Given the description of an element on the screen output the (x, y) to click on. 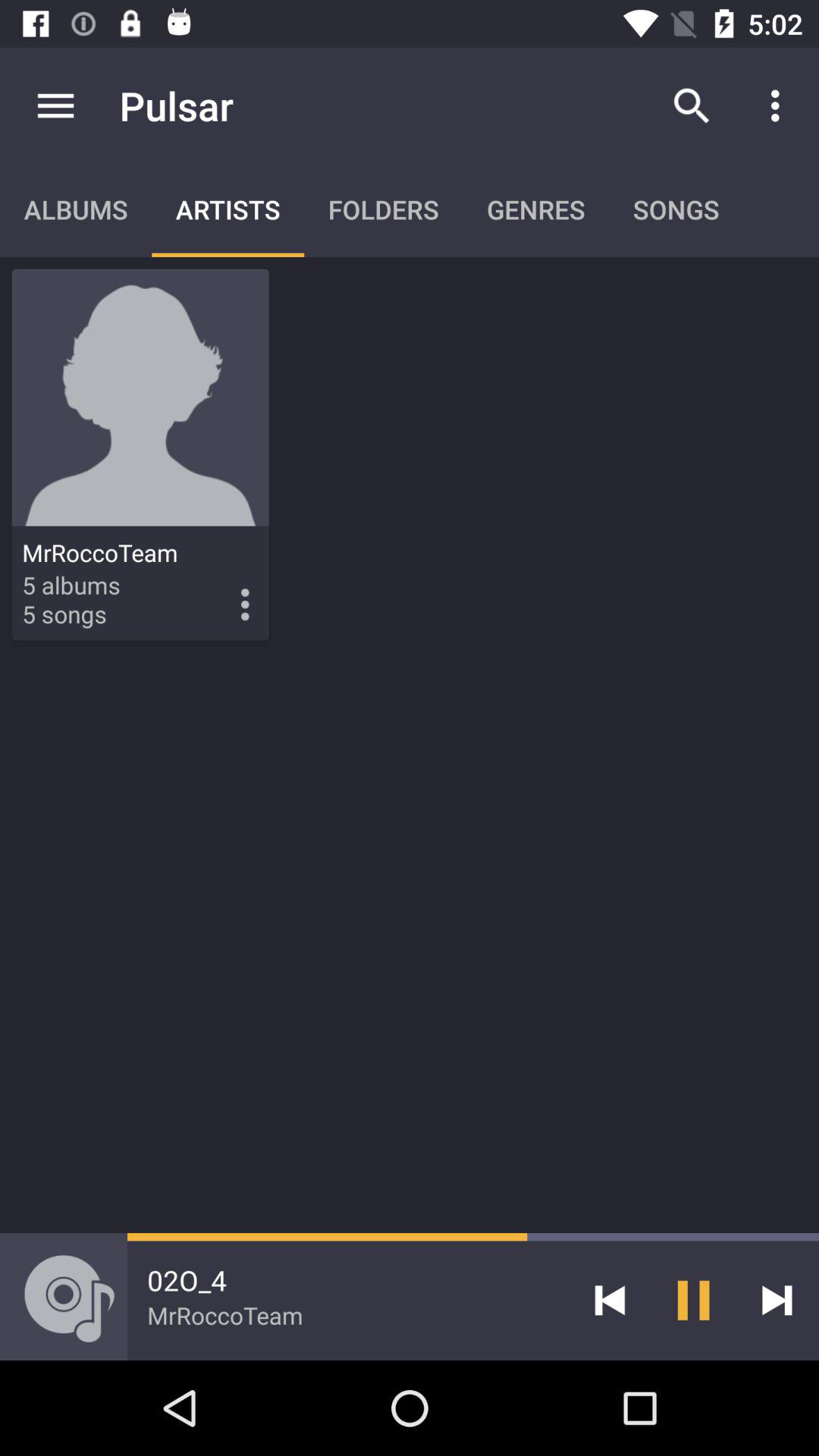
press item to the right of the 02o_4 (609, 1300)
